Given the description of an element on the screen output the (x, y) to click on. 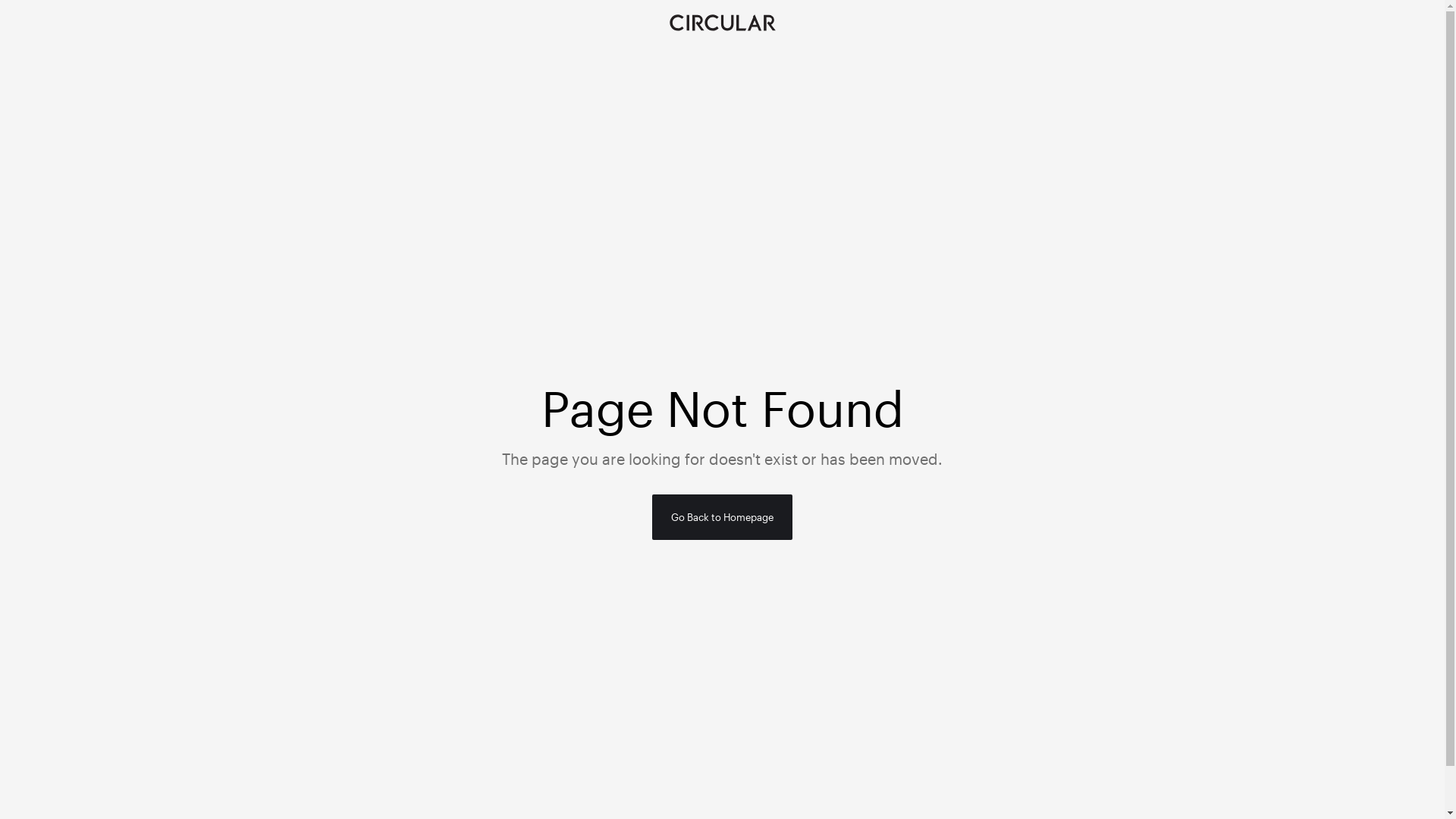
Go Back to Homepage Element type: text (722, 516)
